Given the description of an element on the screen output the (x, y) to click on. 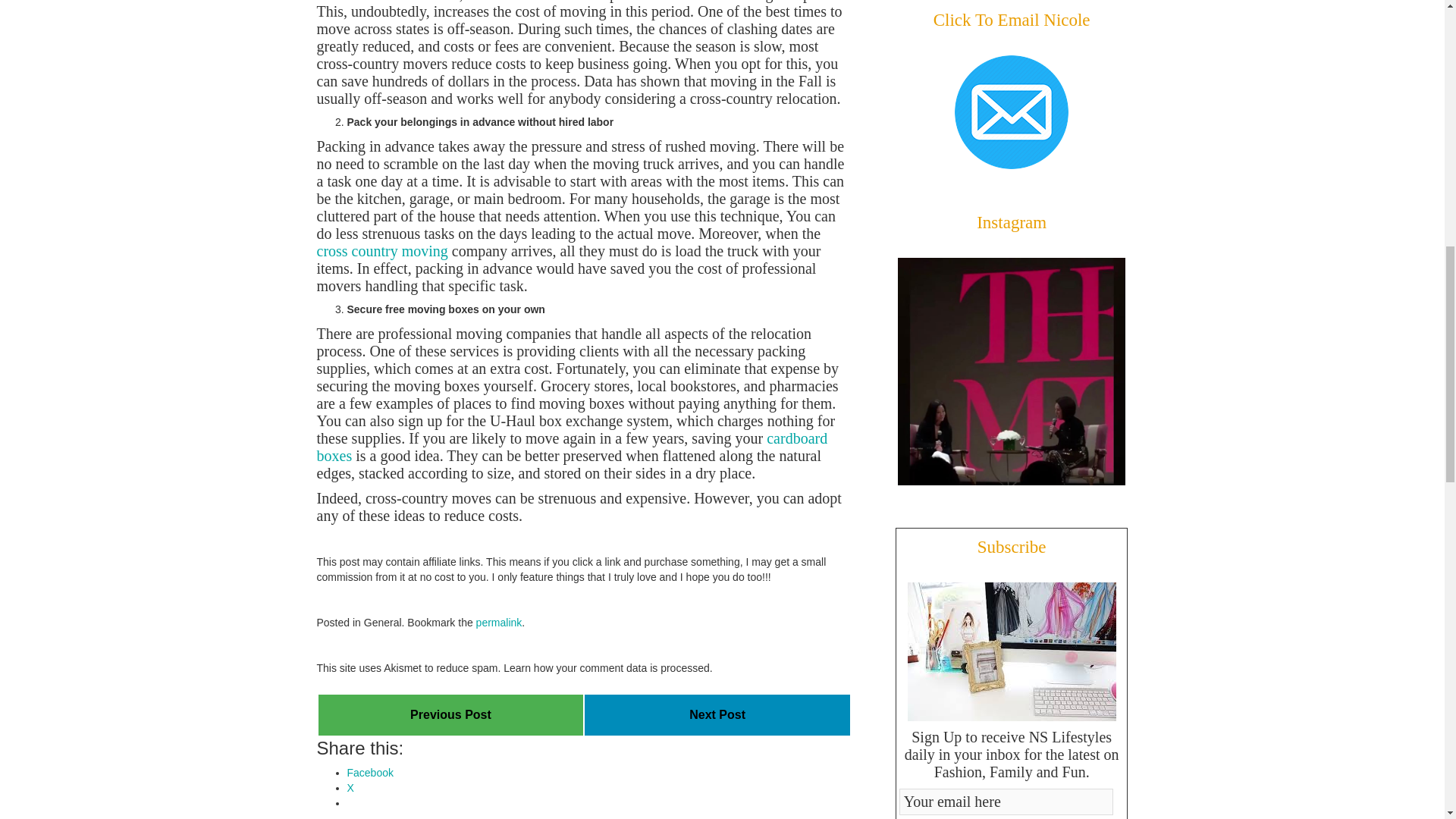
Facebook (370, 772)
Previous Post (450, 714)
This Week's Best Sellers!!! (451, 714)
Click to share on Facebook (370, 772)
Your email here (1006, 801)
Previous Post (451, 714)
permalink (499, 622)
cardboard boxes (572, 446)
Next Post (717, 714)
Next Post (717, 714)
